Given the description of an element on the screen output the (x, y) to click on. 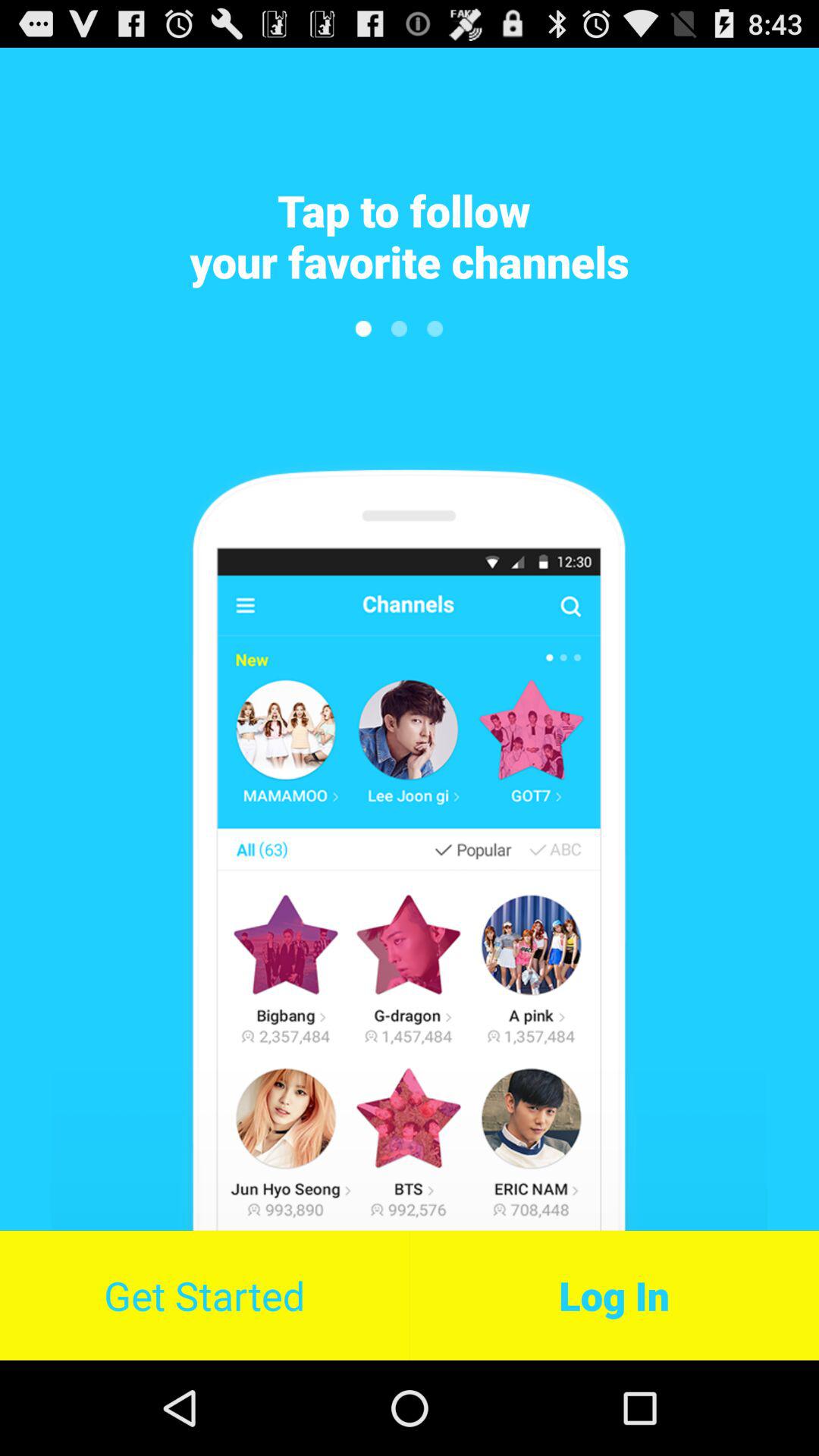
select item at the bottom left corner (204, 1295)
